Given the description of an element on the screen output the (x, y) to click on. 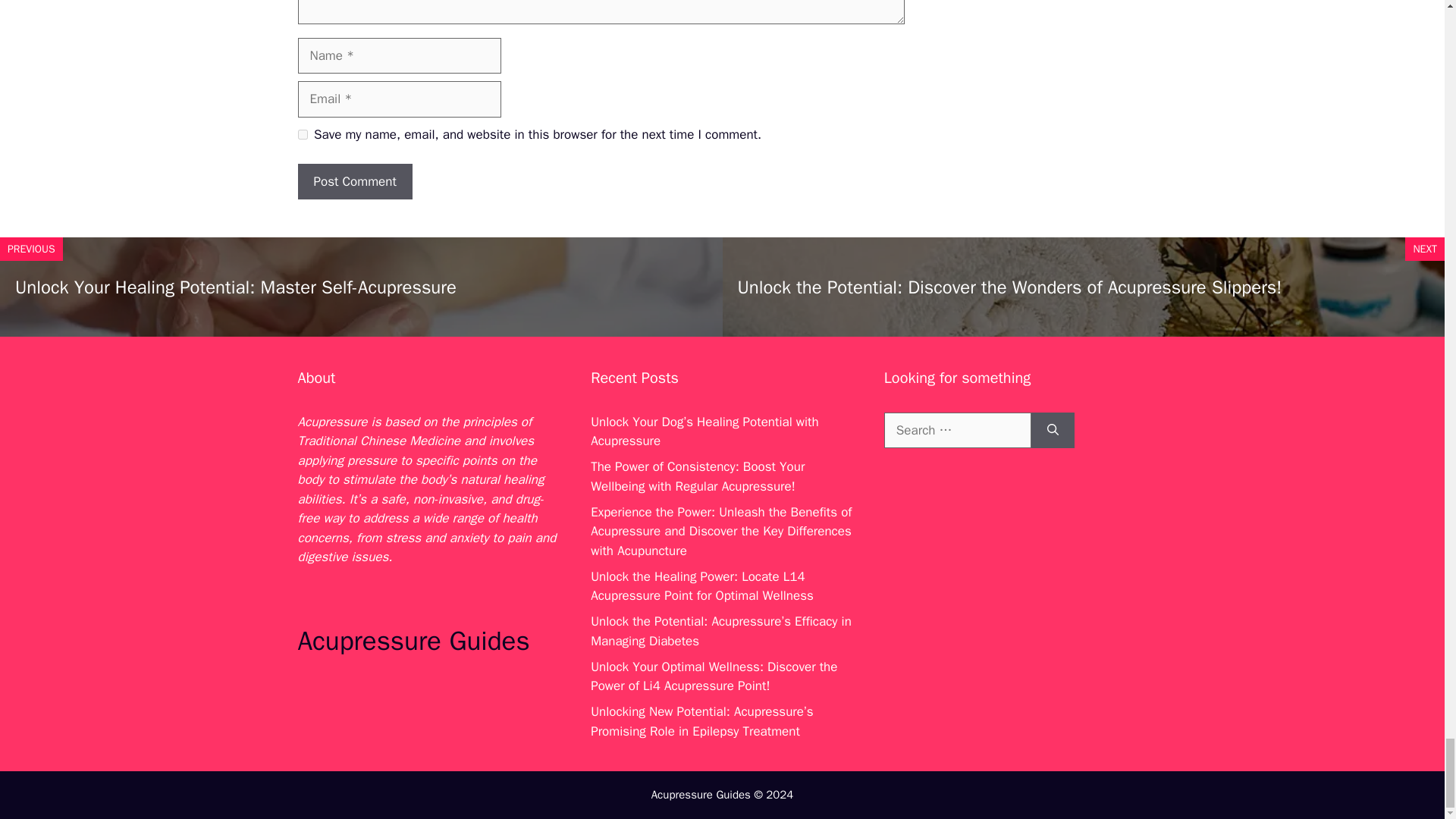
yes (302, 134)
Post Comment (354, 181)
Post Comment (354, 181)
Search for: (956, 430)
Unlock Your Healing Potential: Master Self-Acupressure (235, 287)
